Given the description of an element on the screen output the (x, y) to click on. 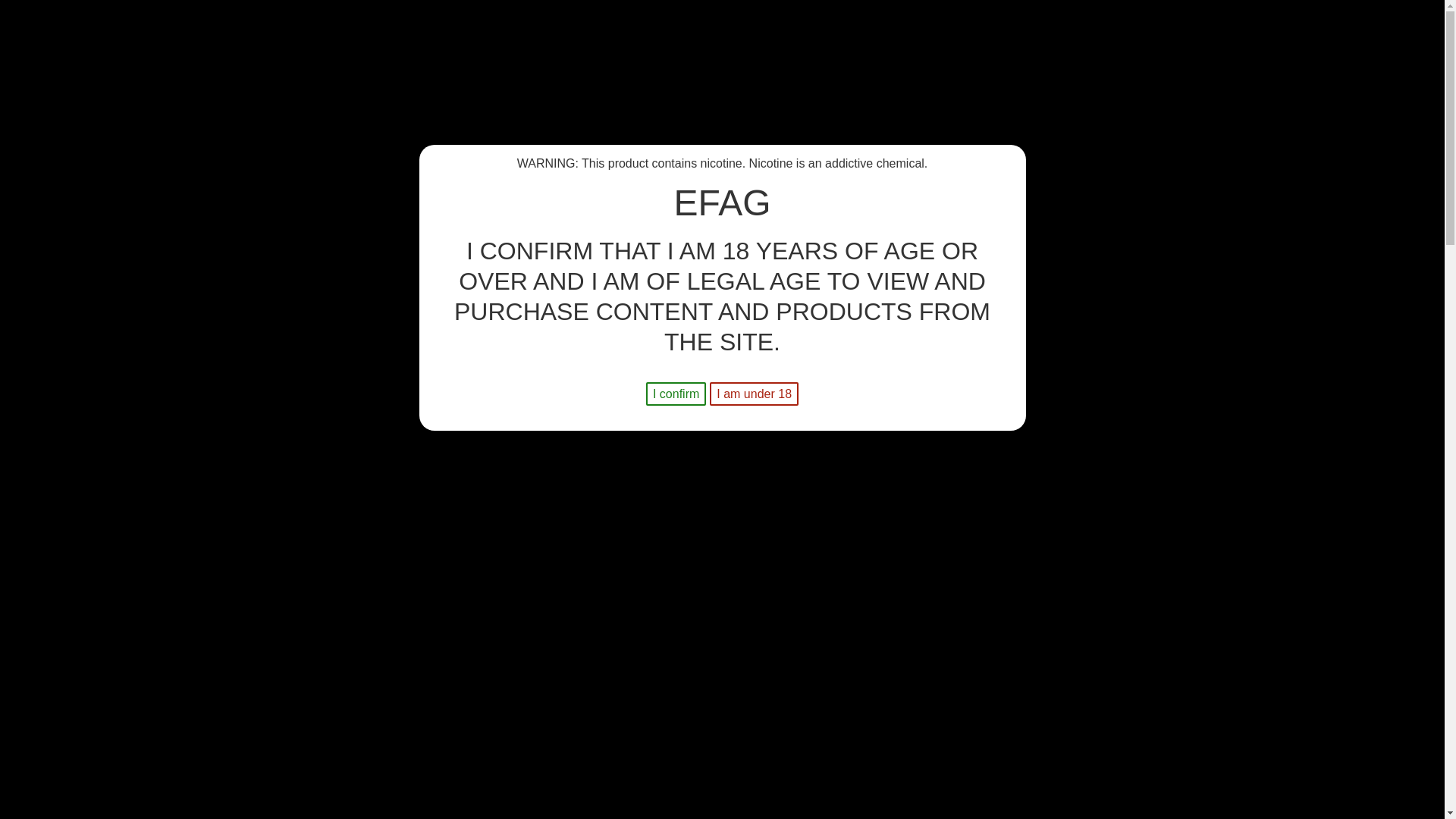
Log in to your customer account (1211, 104)
I confirm (676, 393)
1 (756, 425)
E LIQUID (245, 152)
Wotofo Mesh Style Coils for Profile Squonk RDA 10pcs (202, 526)
0876324849 (416, 90)
Wotofo Mesh Style Coils for Profile Squonk RDA 10pcs (424, 526)
Wotofo Mesh Style Coils for Profile Squonk RDA 10pcs (313, 526)
Sign in (1211, 104)
I am under 18 (753, 393)
